Given the description of an element on the screen output the (x, y) to click on. 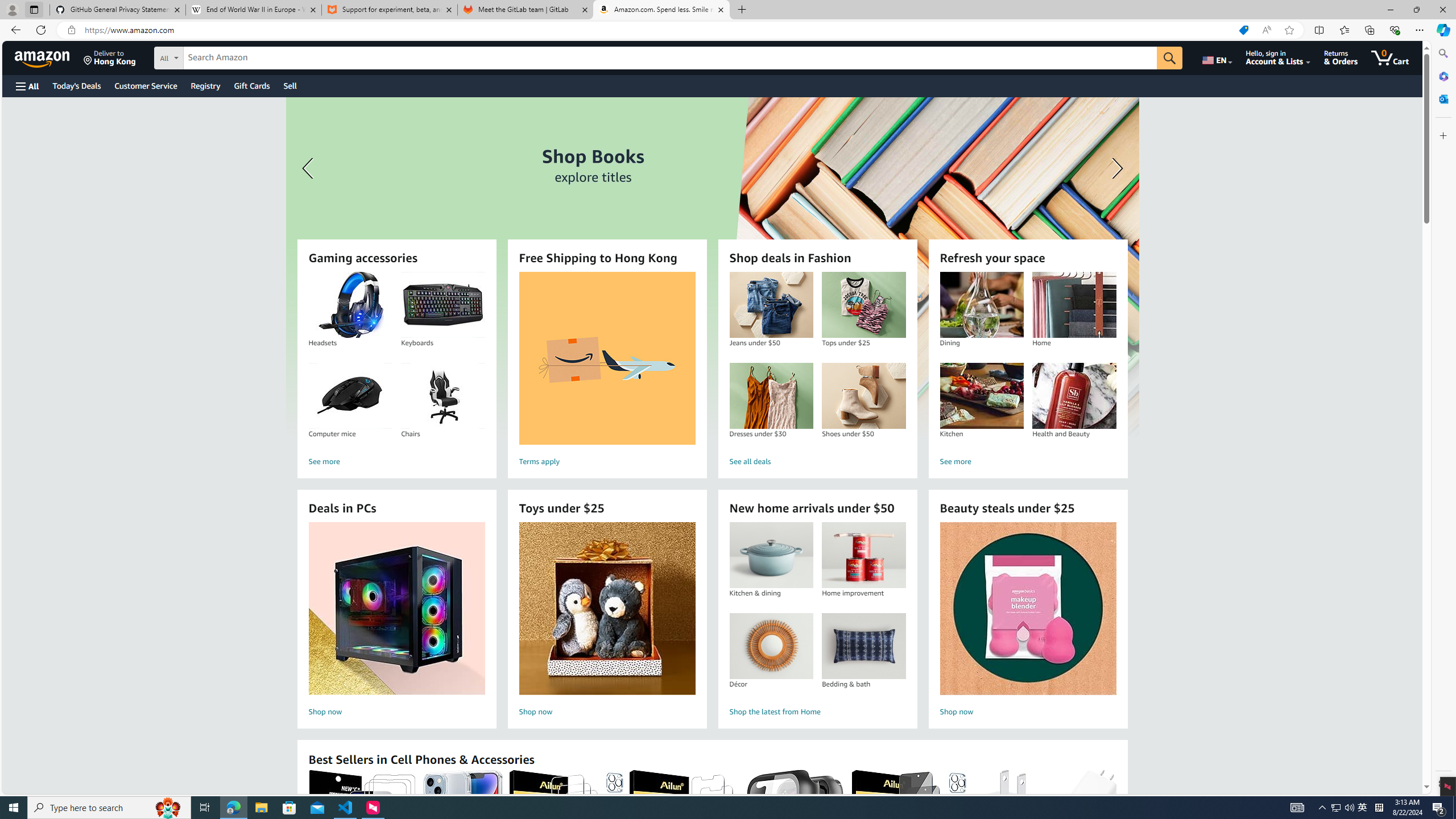
Home improvement (863, 555)
Deals in PCs (395, 608)
Go (1169, 57)
0 items in cart (1389, 57)
Health and Beauty (1074, 395)
Dresses under $30 (771, 395)
